Given the description of an element on the screen output the (x, y) to click on. 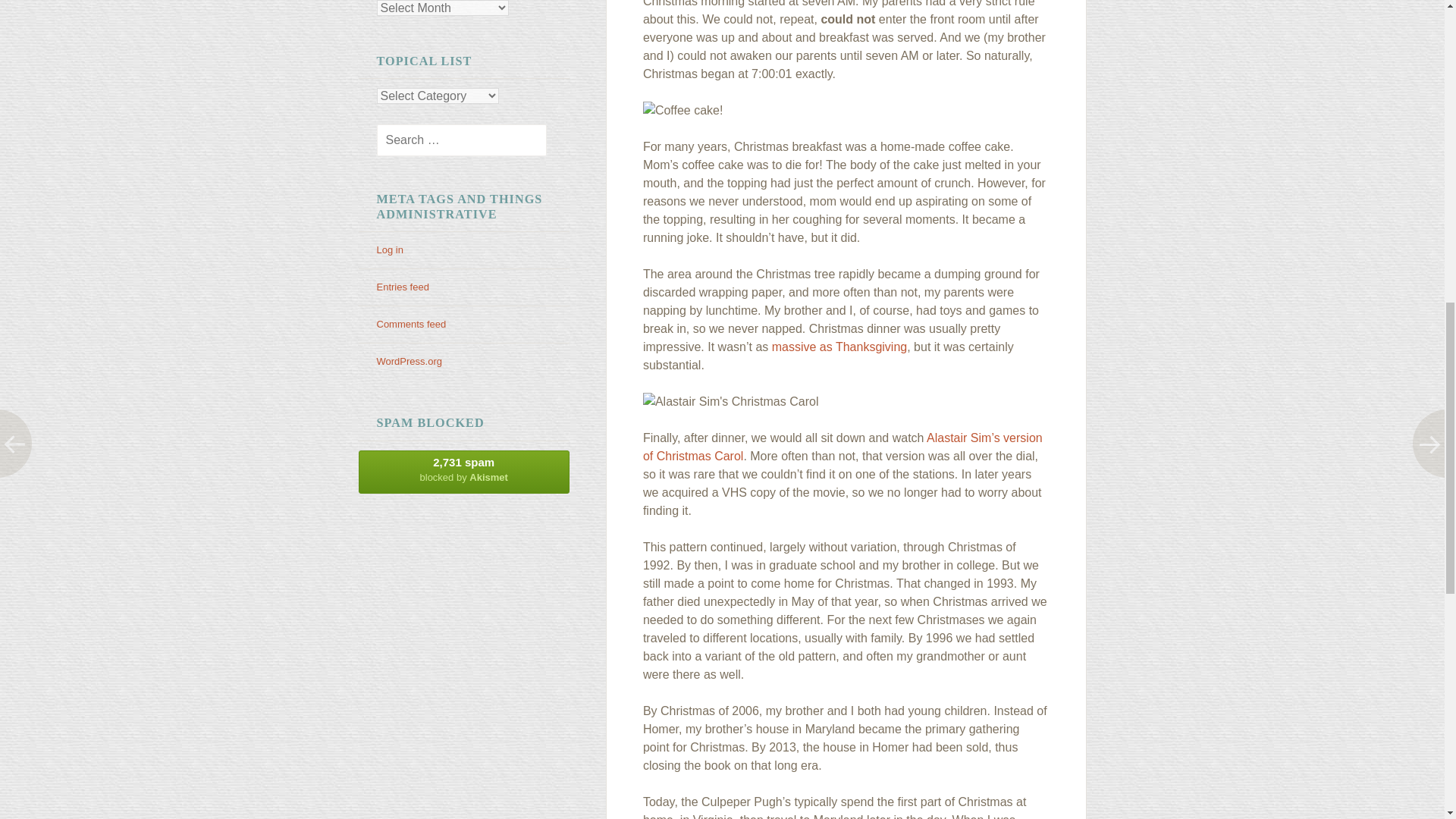
WordPress.org (408, 360)
massive as Thanksgiving (839, 346)
Comments feed (410, 324)
Entries feed (401, 286)
Log in (463, 471)
